Given the description of an element on the screen output the (x, y) to click on. 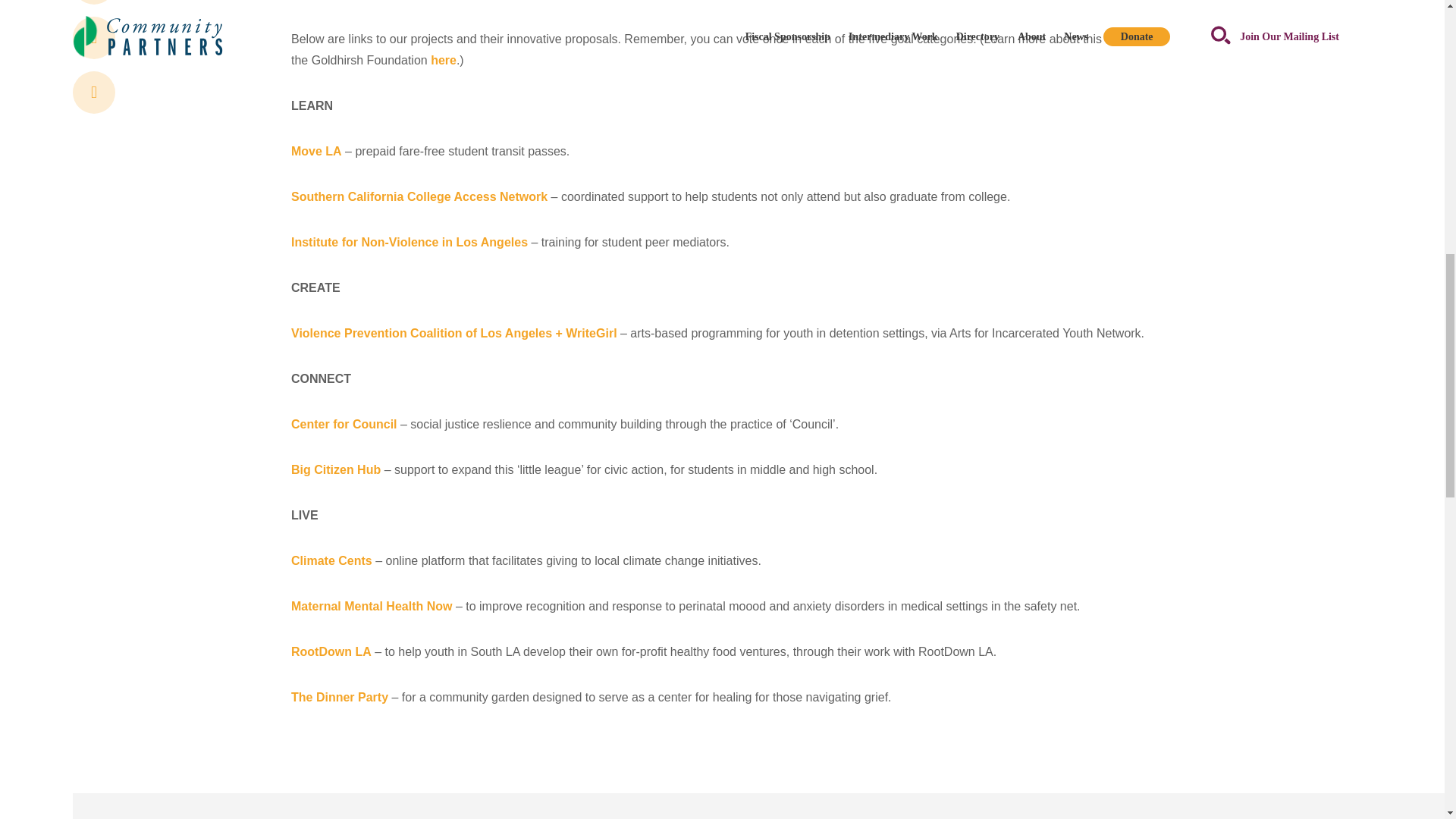
here (443, 60)
Move LA (316, 151)
Maternal Mental Health Now (371, 605)
Institute for Non-Violence in Los Angeles (409, 241)
Climate Cents (331, 560)
Center for Council (344, 423)
Big Citizen Hub (335, 469)
Southern California College Access Network (419, 196)
